Given the description of an element on the screen output the (x, y) to click on. 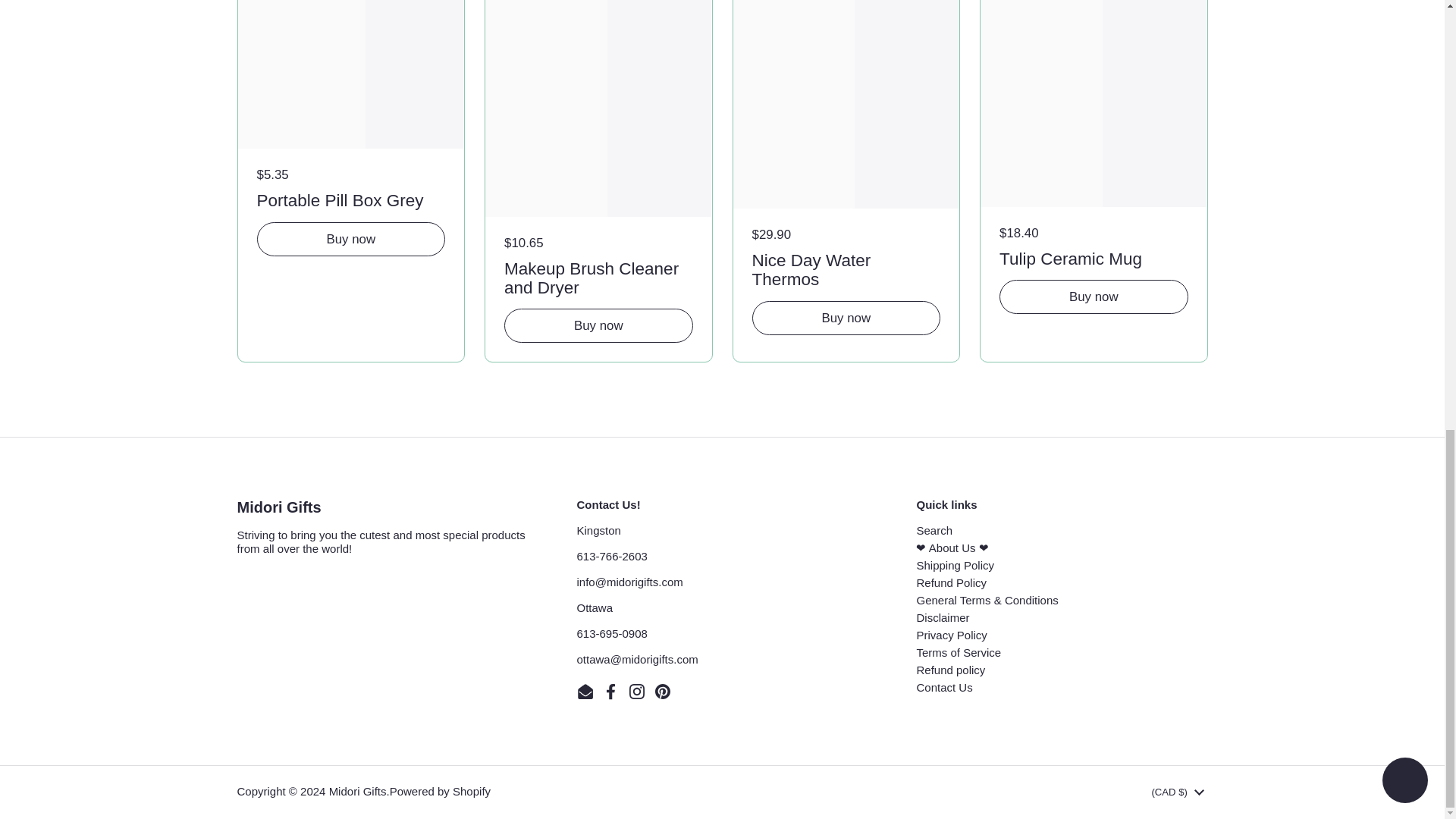
Nice Day Water Thermos (846, 266)
Portable Pill Box Grey (350, 197)
Tulip Ceramic Mug (1093, 256)
Makeup Brush Cleaner and Dryer (598, 275)
